Given the description of an element on the screen output the (x, y) to click on. 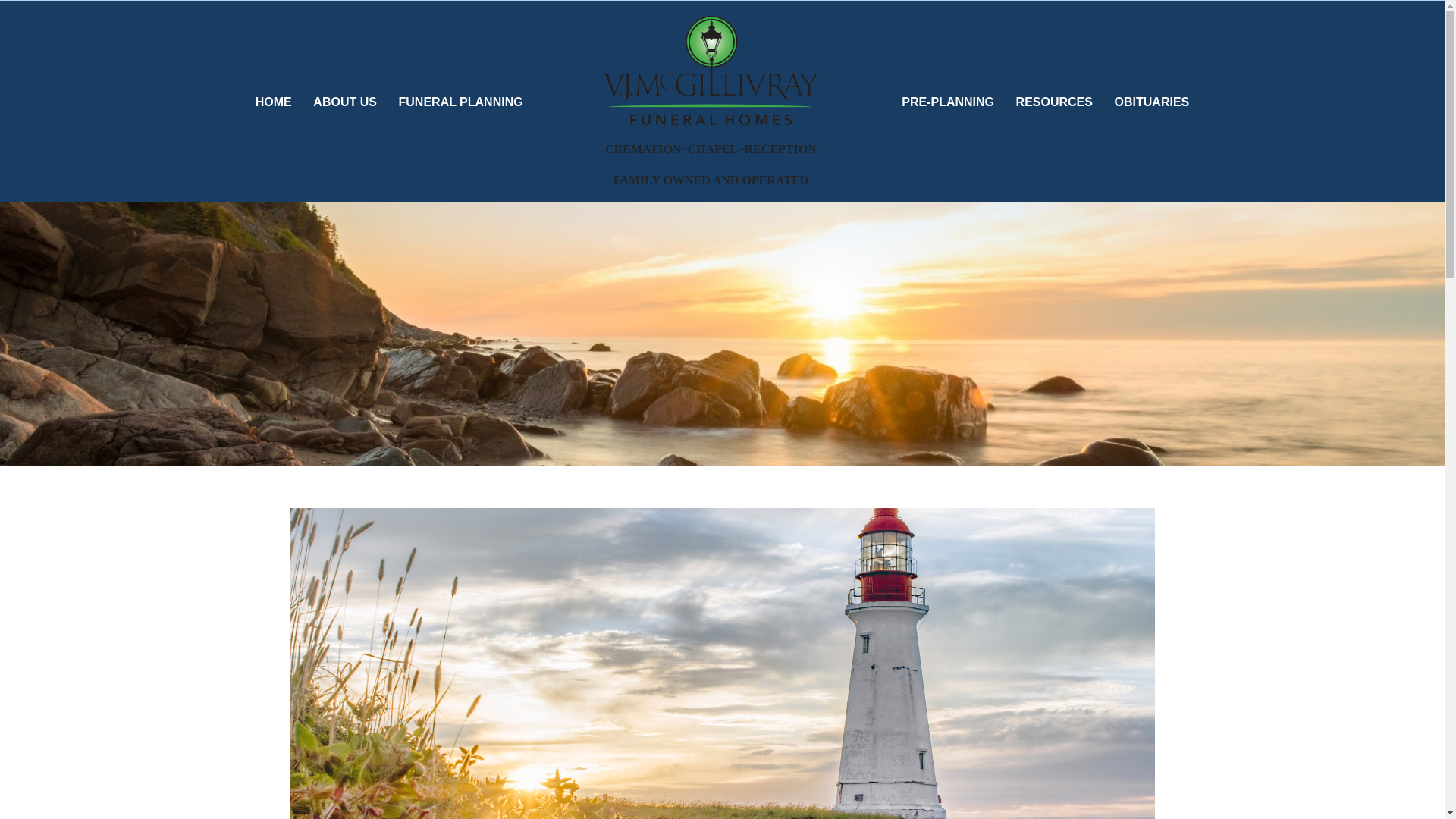
FUNERAL PLANNING (460, 101)
PRE-PLANNING (948, 101)
OBITUARIES (1150, 101)
ABOUT US (344, 101)
HOME (273, 101)
RESOURCES (1053, 101)
